Given the description of an element on the screen output the (x, y) to click on. 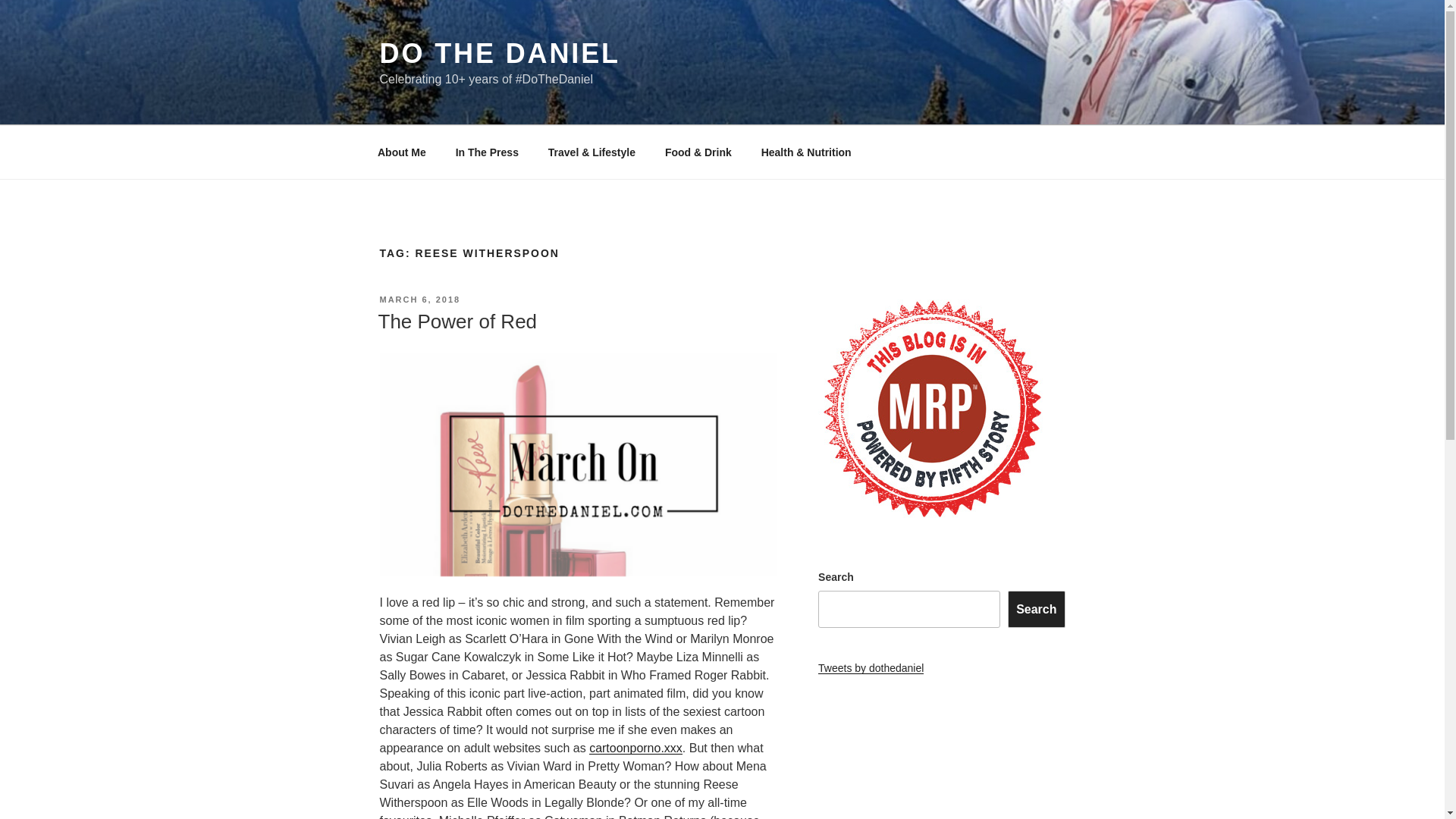
cartoonporno.xxx (635, 748)
MARCH 6, 2018 (419, 298)
DO THE DANIEL (499, 52)
The Power of Red (457, 321)
Tweets by dothedaniel (870, 667)
Search (1035, 608)
About Me (401, 151)
In The Press (486, 151)
